Given the description of an element on the screen output the (x, y) to click on. 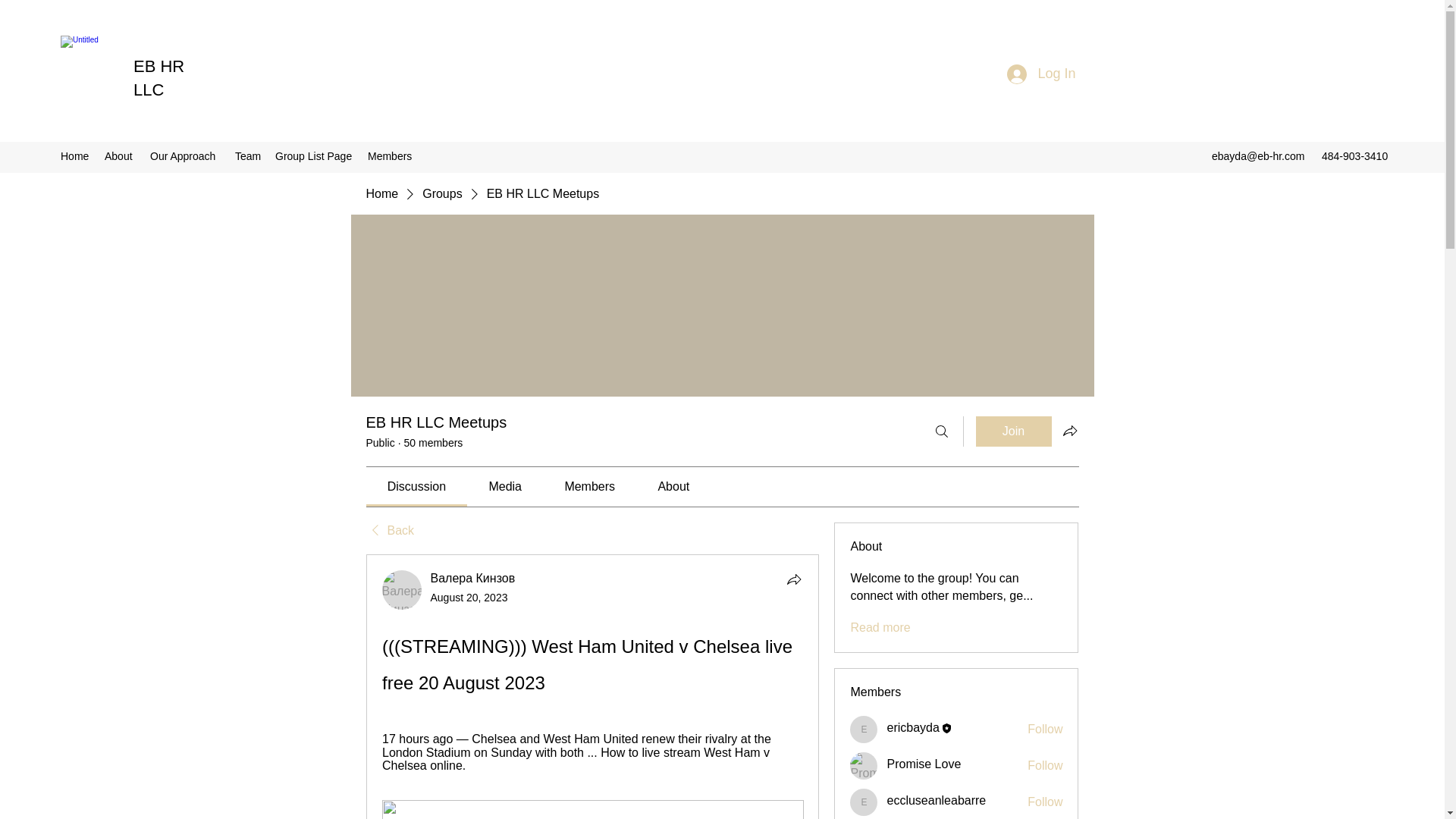
Group List Page (313, 156)
About (119, 156)
Home (381, 193)
Our Approach (184, 156)
Promise Love (923, 763)
Follow (1044, 729)
EB HR LLC (158, 77)
eccluseanleabarre (863, 801)
eccluseanleabarre (935, 799)
Members (389, 156)
August 20, 2023 (469, 597)
Log In (1040, 73)
Read more (880, 627)
Follow (1044, 801)
Team (247, 156)
